Given the description of an element on the screen output the (x, y) to click on. 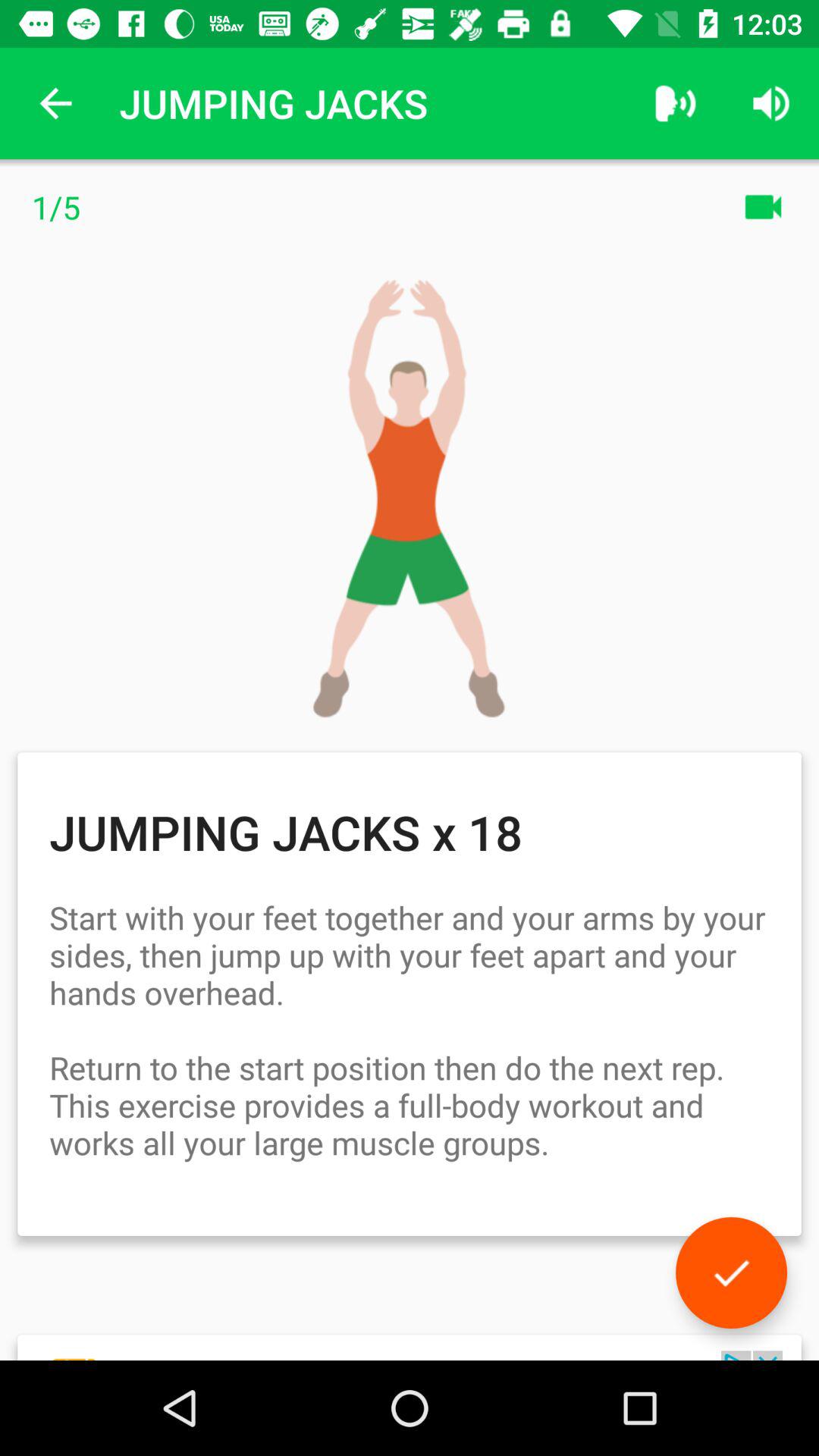
click the item at the bottom right corner (731, 1272)
